Given the description of an element on the screen output the (x, y) to click on. 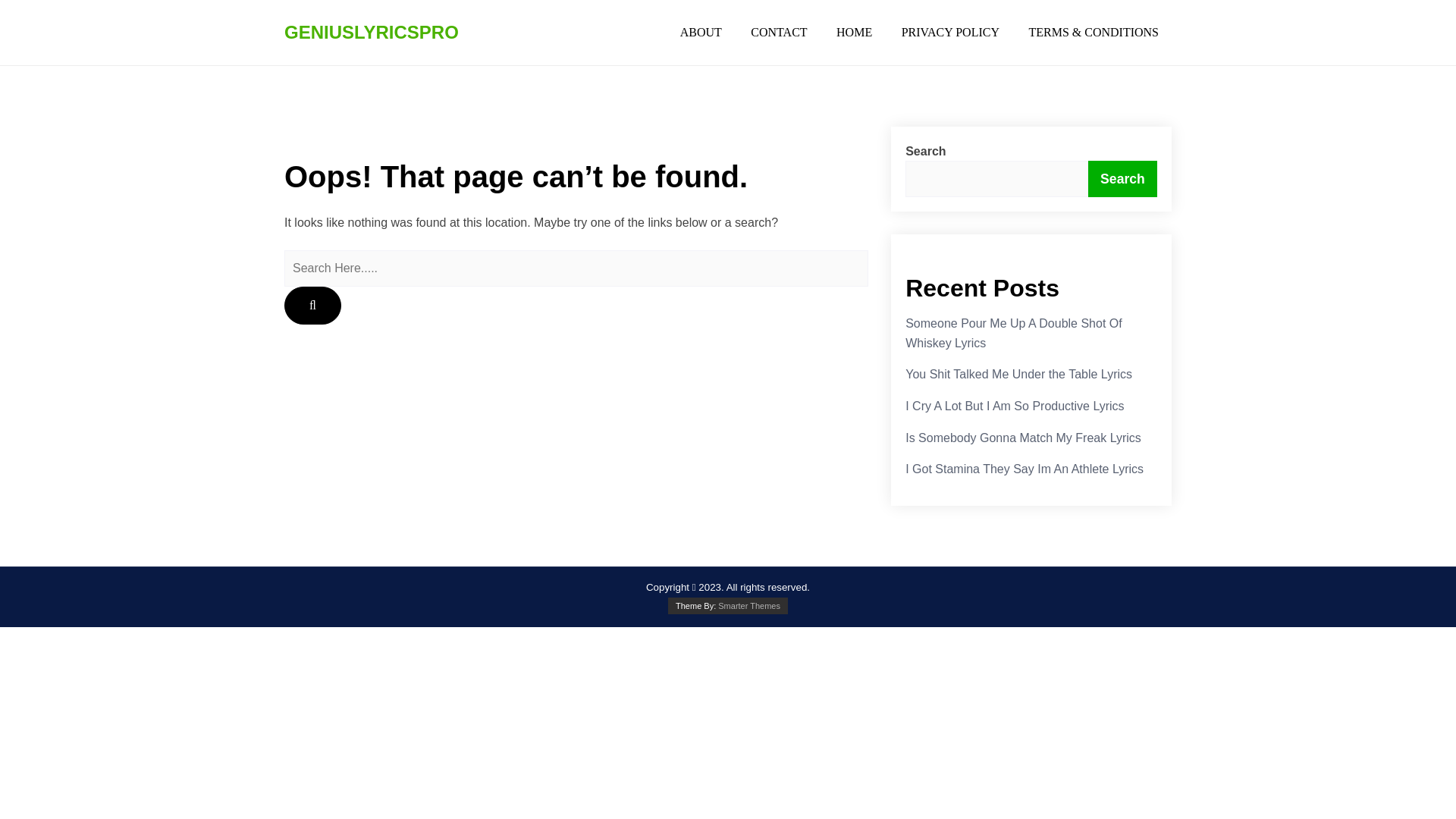
HOME (854, 32)
ABOUT (700, 32)
Smarter Themes (748, 605)
Someone Pour Me Up A Double Shot Of Whiskey Lyrics (1013, 332)
PRIVACY POLICY (949, 32)
I Got Stamina They Say Im An Athlete Lyrics (1023, 468)
I Cry A Lot But I Am So Productive Lyrics (1014, 405)
You Shit Talked Me Under the Table Lyrics (1018, 373)
GENIUSLYRICSPRO (386, 32)
Search (1122, 178)
CONTACT (778, 32)
Is Somebody Gonna Match My Freak Lyrics (1023, 437)
